Given the description of an element on the screen output the (x, y) to click on. 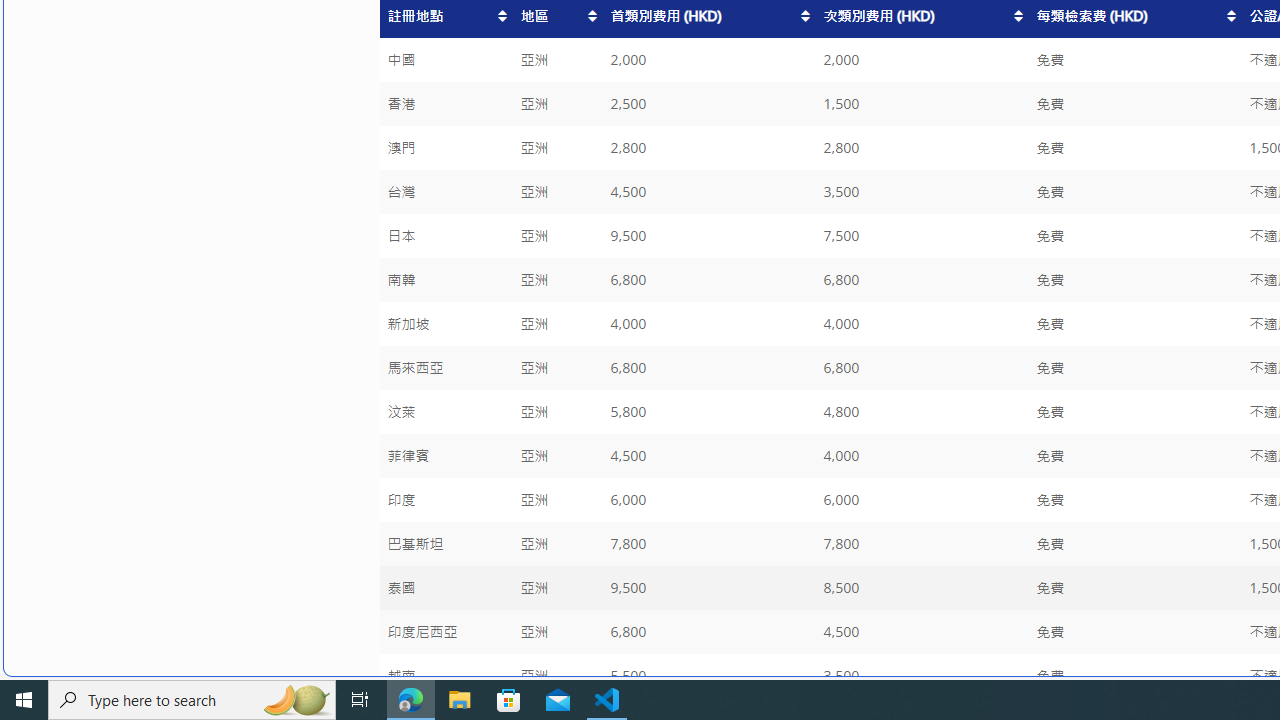
5,500 (708, 676)
9,500 (708, 588)
8,500 (922, 588)
2,000 (922, 60)
7,800 (922, 544)
5,800 (708, 412)
